Given the description of an element on the screen output the (x, y) to click on. 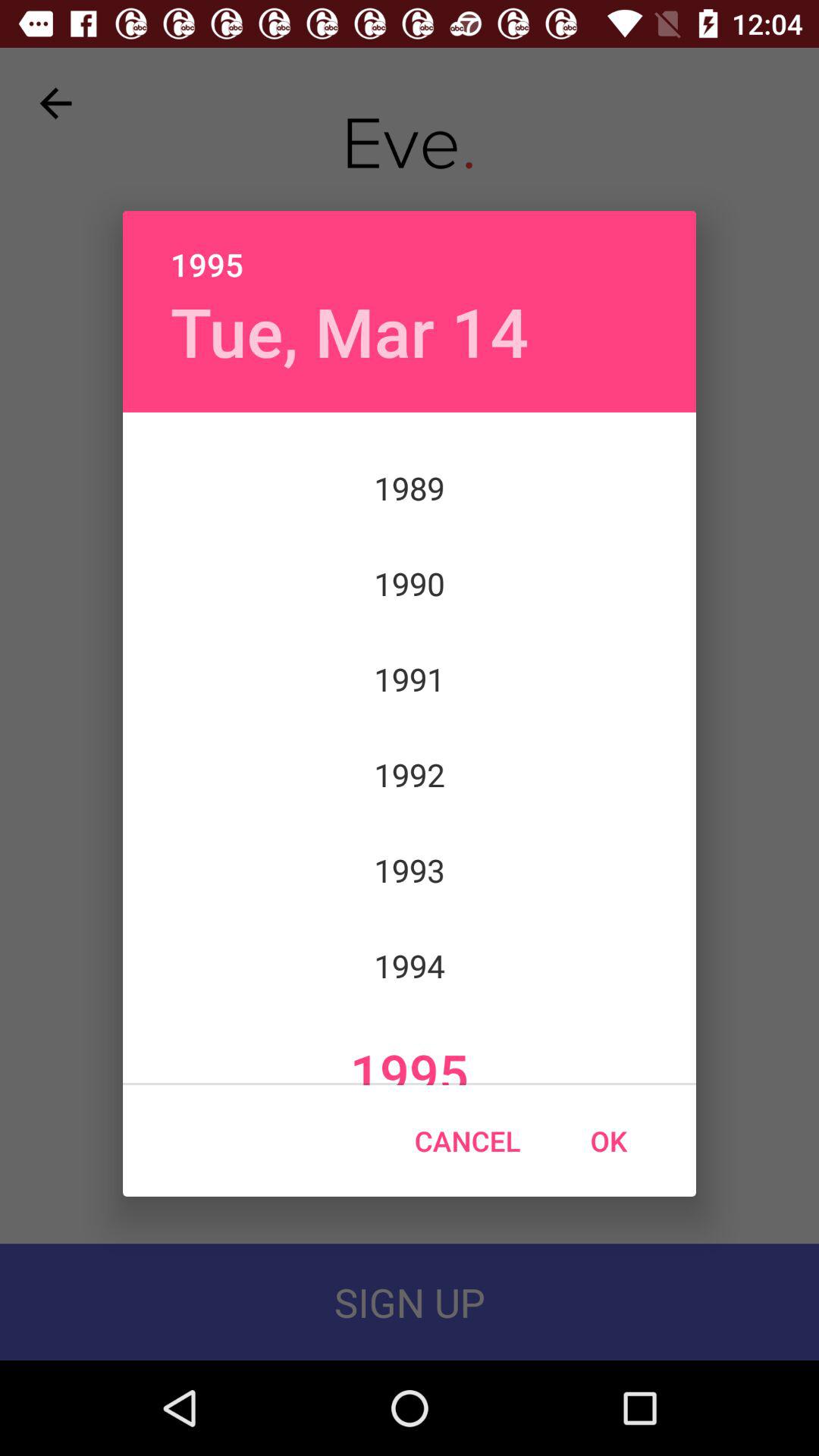
choose the item to the left of ok icon (467, 1140)
